Given the description of an element on the screen output the (x, y) to click on. 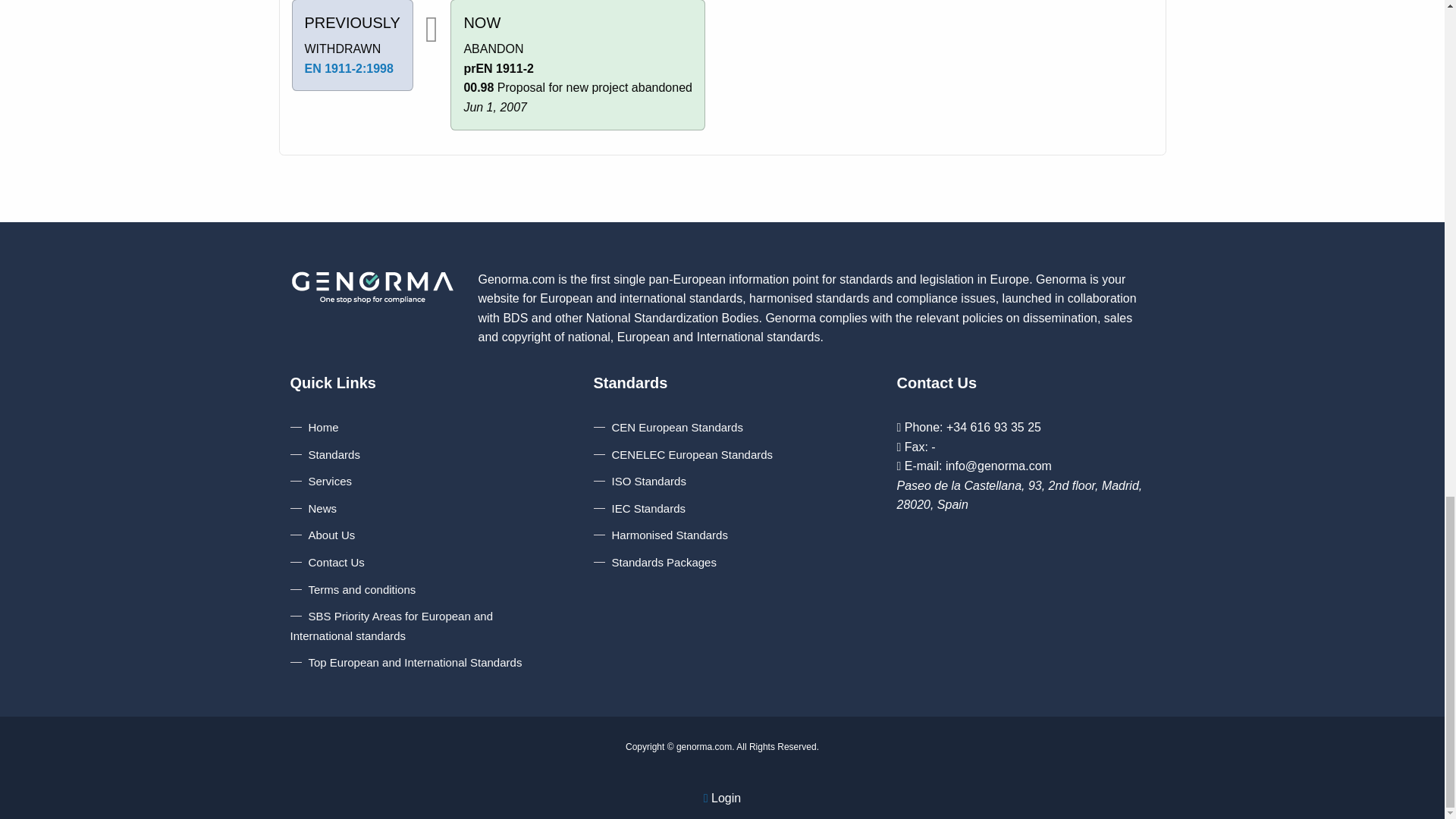
Services (320, 481)
Standards (324, 454)
News (313, 508)
EN 1911-2:1998 (348, 68)
Home (314, 427)
